Given the description of an element on the screen output the (x, y) to click on. 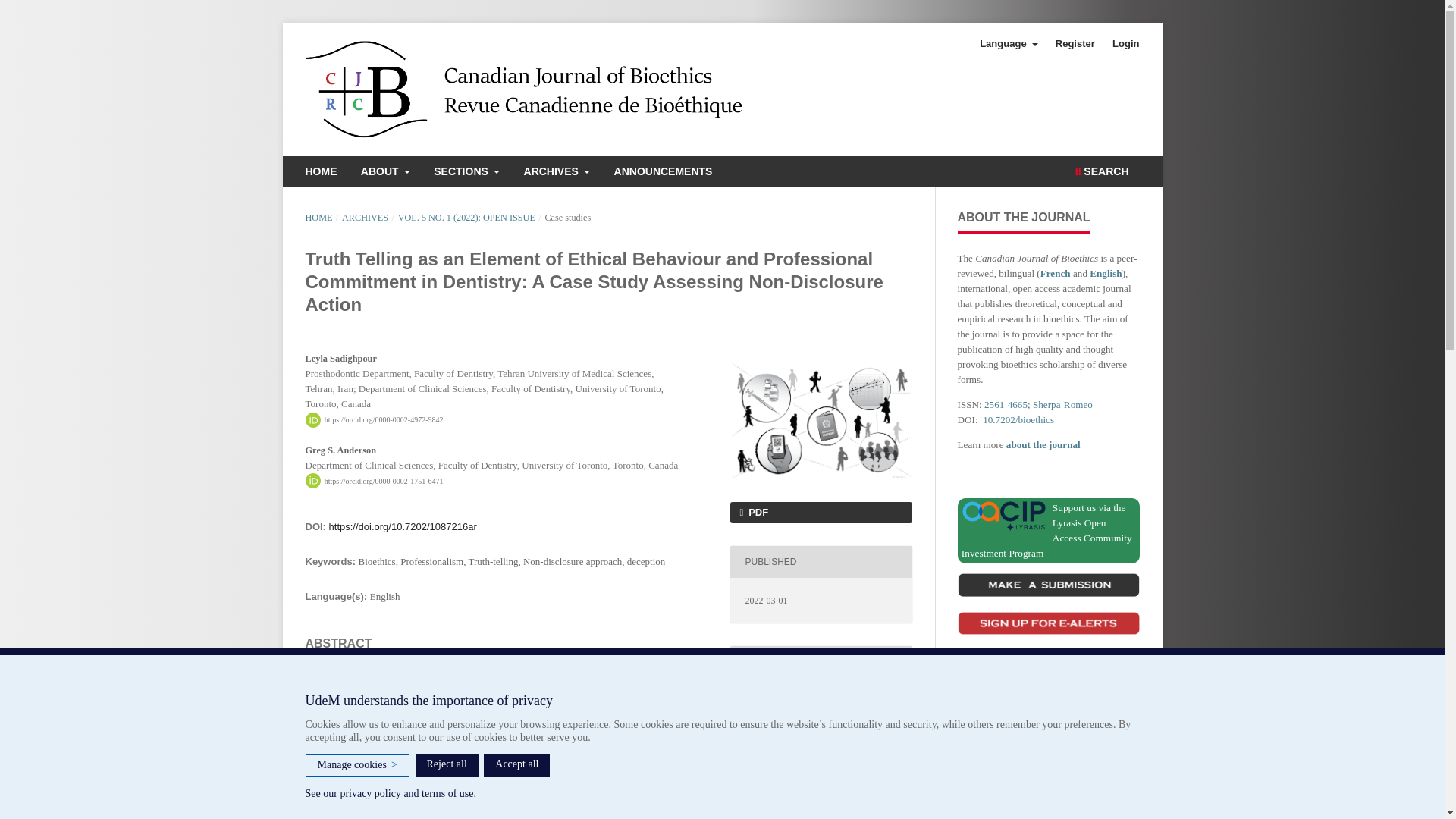
ARCHIVES (365, 217)
ARCHIVES (556, 172)
HOME (317, 217)
ANNOUNCEMENTS (662, 172)
Login (1126, 43)
SEARCH (1102, 172)
HOME (320, 172)
Language (1008, 43)
ABOUT (384, 172)
SECTIONS (466, 172)
